Given the description of an element on the screen output the (x, y) to click on. 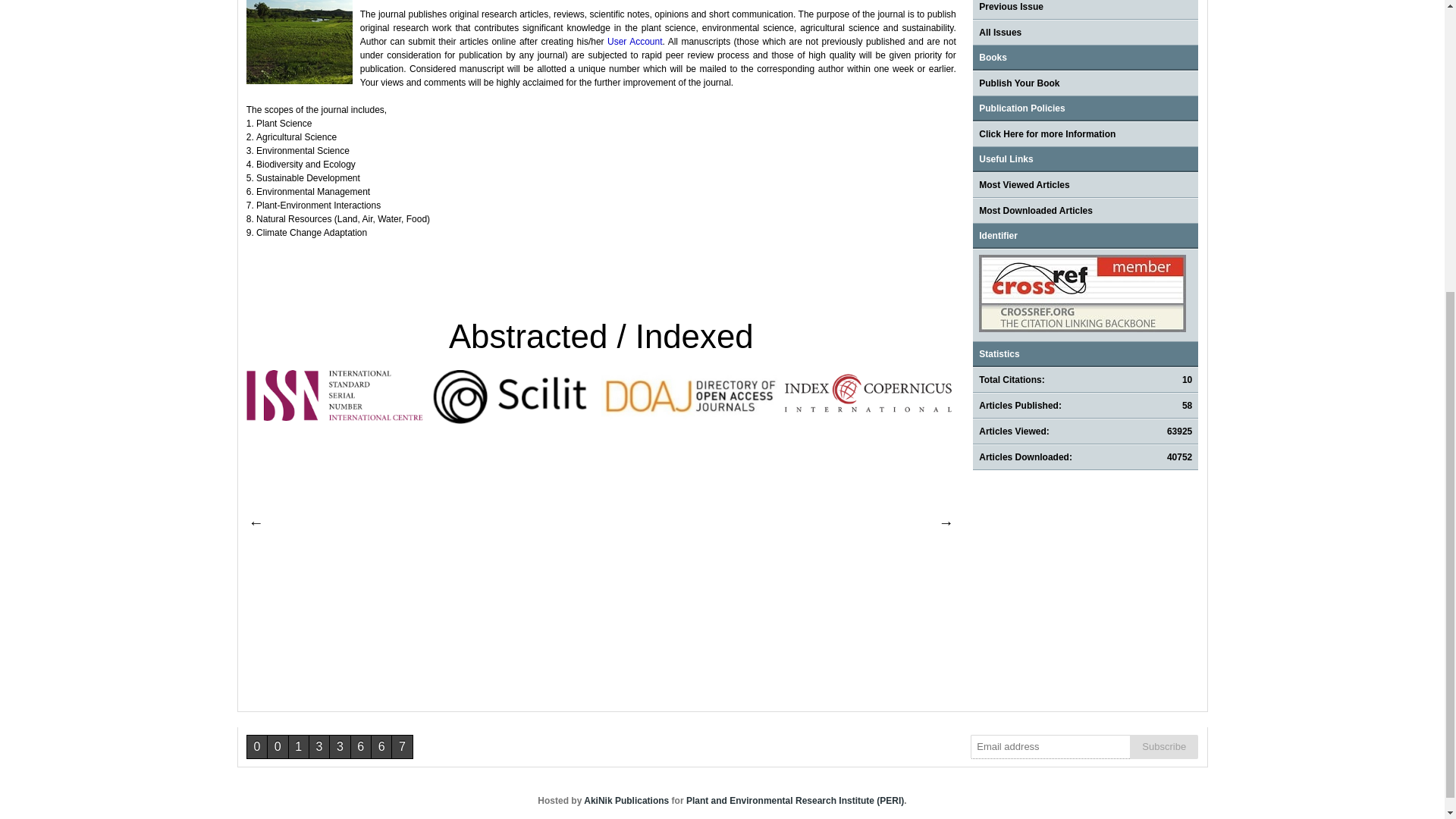
Previous Issue (1010, 6)
AkiNik Publications (625, 800)
Subscribe (1163, 746)
Publish Your Book (1018, 82)
Next (945, 521)
Most Viewed Articles (1023, 184)
All Issues (1000, 32)
Previous (255, 521)
User Account (634, 41)
Most Downloaded Articles (1035, 210)
